Given the description of an element on the screen output the (x, y) to click on. 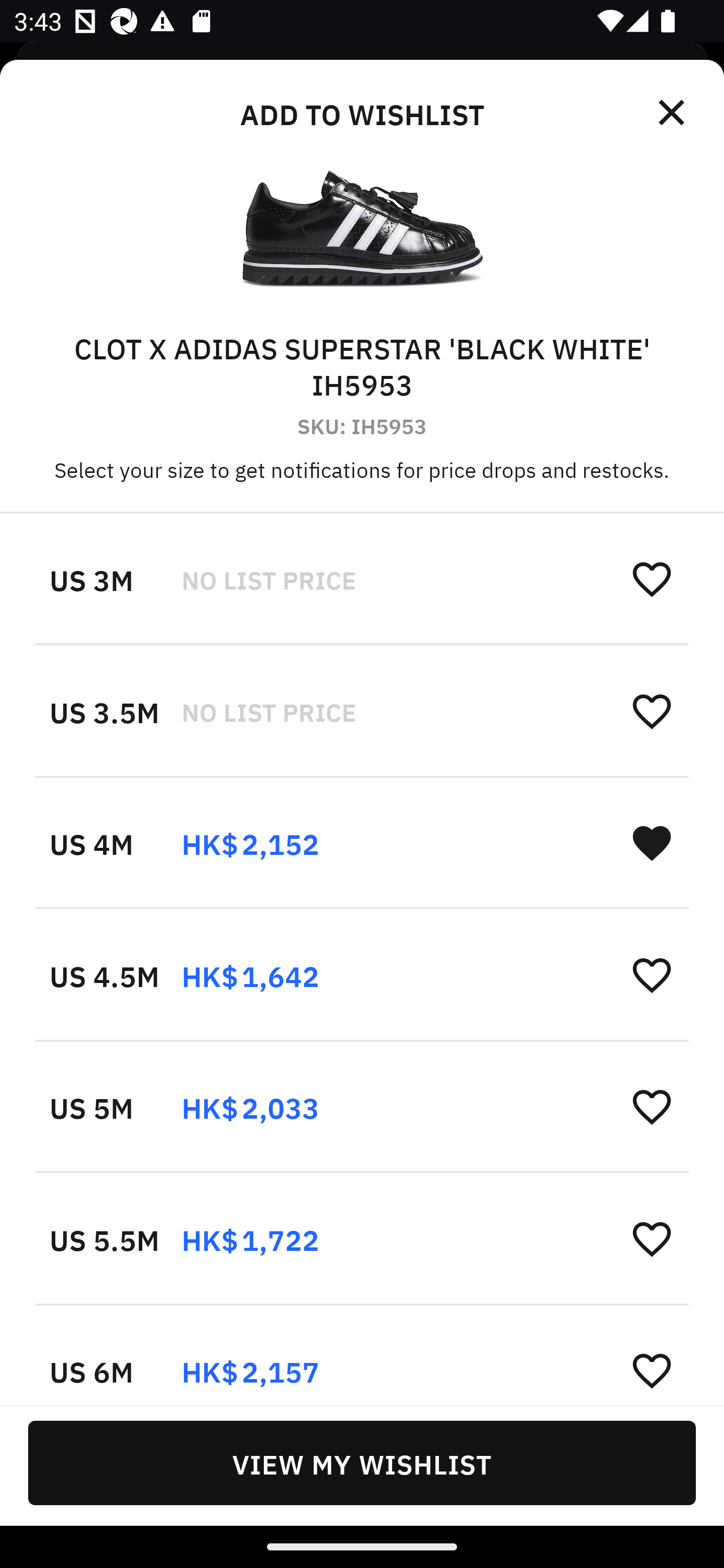
 (672, 112)
󰋕 (651, 578)
󰋕 (651, 710)
󰋑 (651, 842)
󰋕 (651, 974)
󰋕 (651, 1105)
󰋕 (651, 1237)
󰋕 (651, 1369)
VIEW MY WISHLIST (361, 1462)
